Given the description of an element on the screen output the (x, y) to click on. 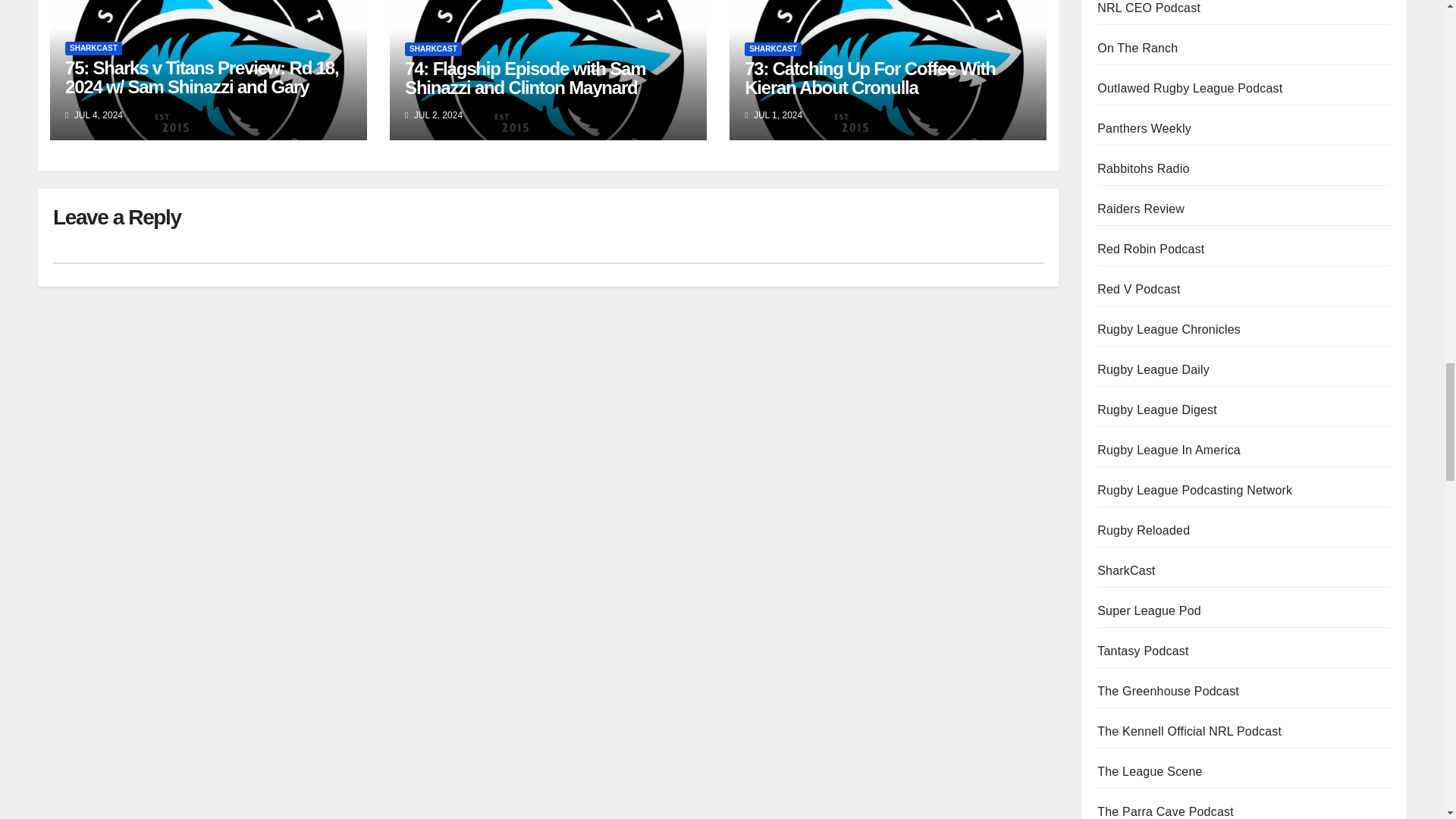
SHARKCAST (93, 48)
SHARKCAST (773, 49)
SHARKCAST (432, 49)
73: Catching Up For Coffee With Kieran About Cronulla (869, 77)
74: Flagship Episode with Sam Shinazzi and Clinton Maynard (524, 77)
